Given the description of an element on the screen output the (x, y) to click on. 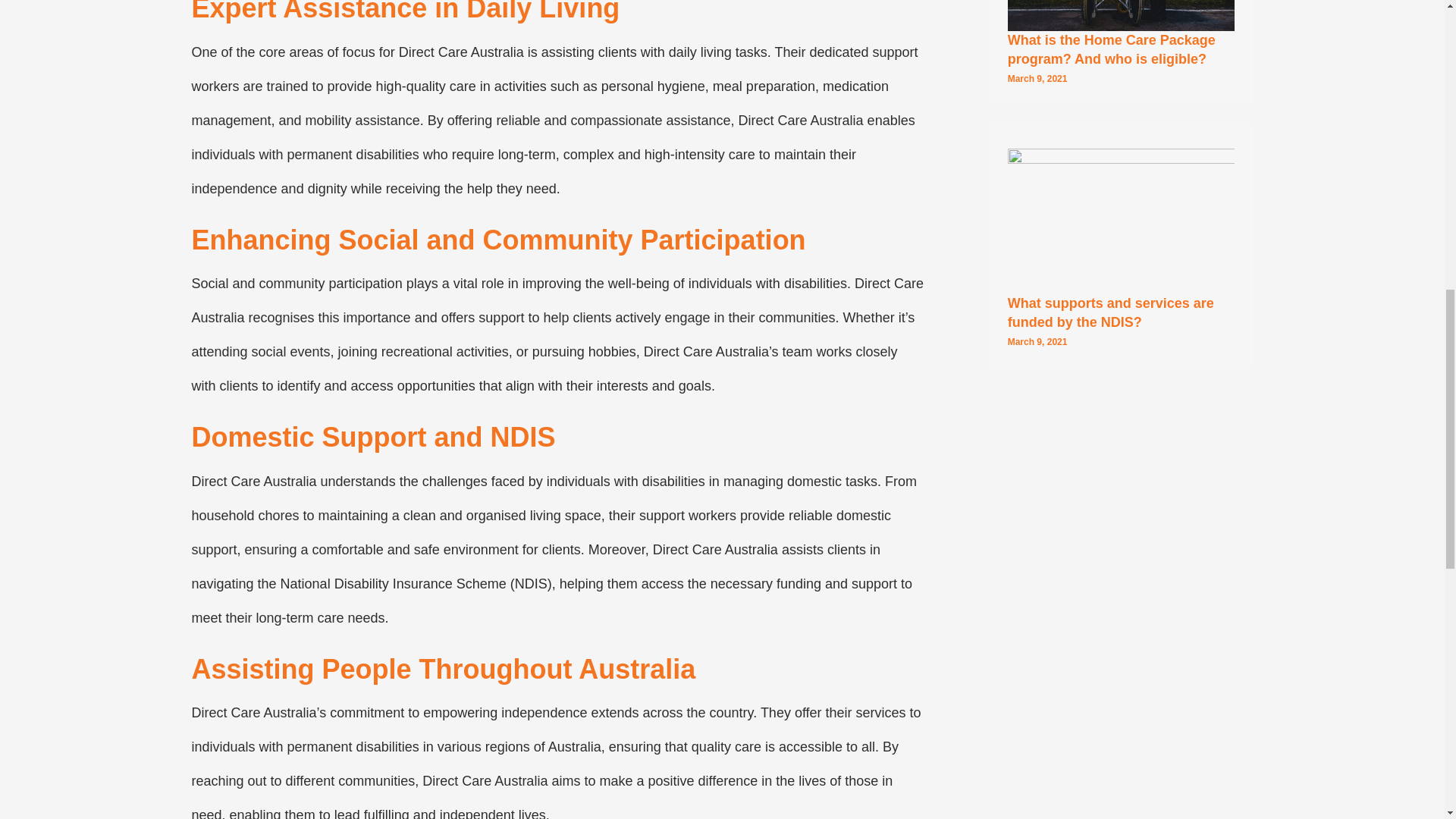
What supports and services are funded by the NDIS? (1120, 217)
What is the Home Care Package program? And who is eligible? (1111, 49)
What supports and services are funded by the NDIS? (1110, 312)
